Given the description of an element on the screen output the (x, y) to click on. 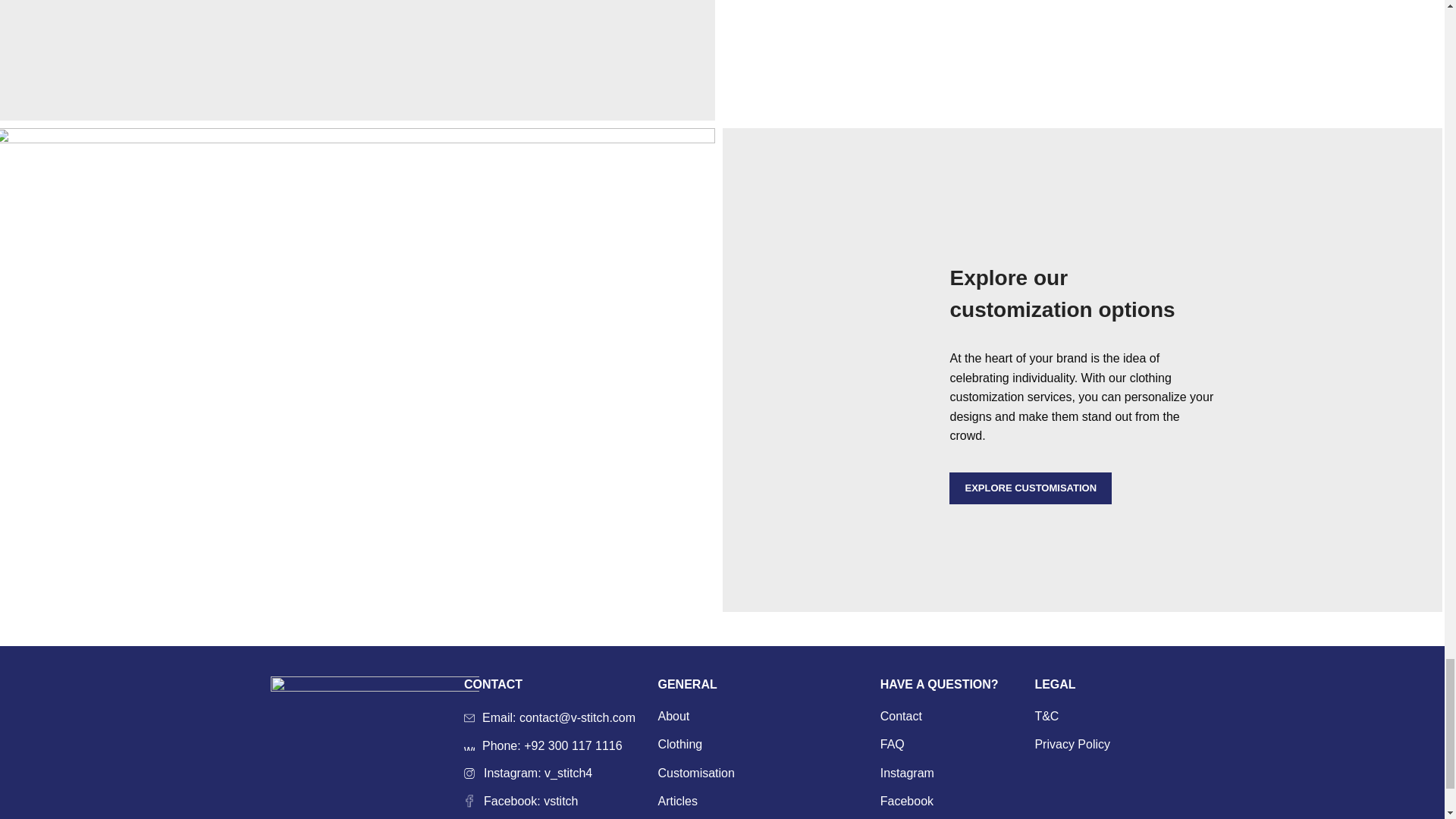
Privacy Policy (1072, 744)
EXPLORE CUSTOMISATION (1030, 488)
Clothing (681, 744)
wd-envelope-light (469, 717)
Contact (901, 716)
wd-phone-light (469, 745)
Articles (678, 801)
Instagram (908, 773)
7 (1082, 60)
Facebook (907, 801)
